Given the description of an element on the screen output the (x, y) to click on. 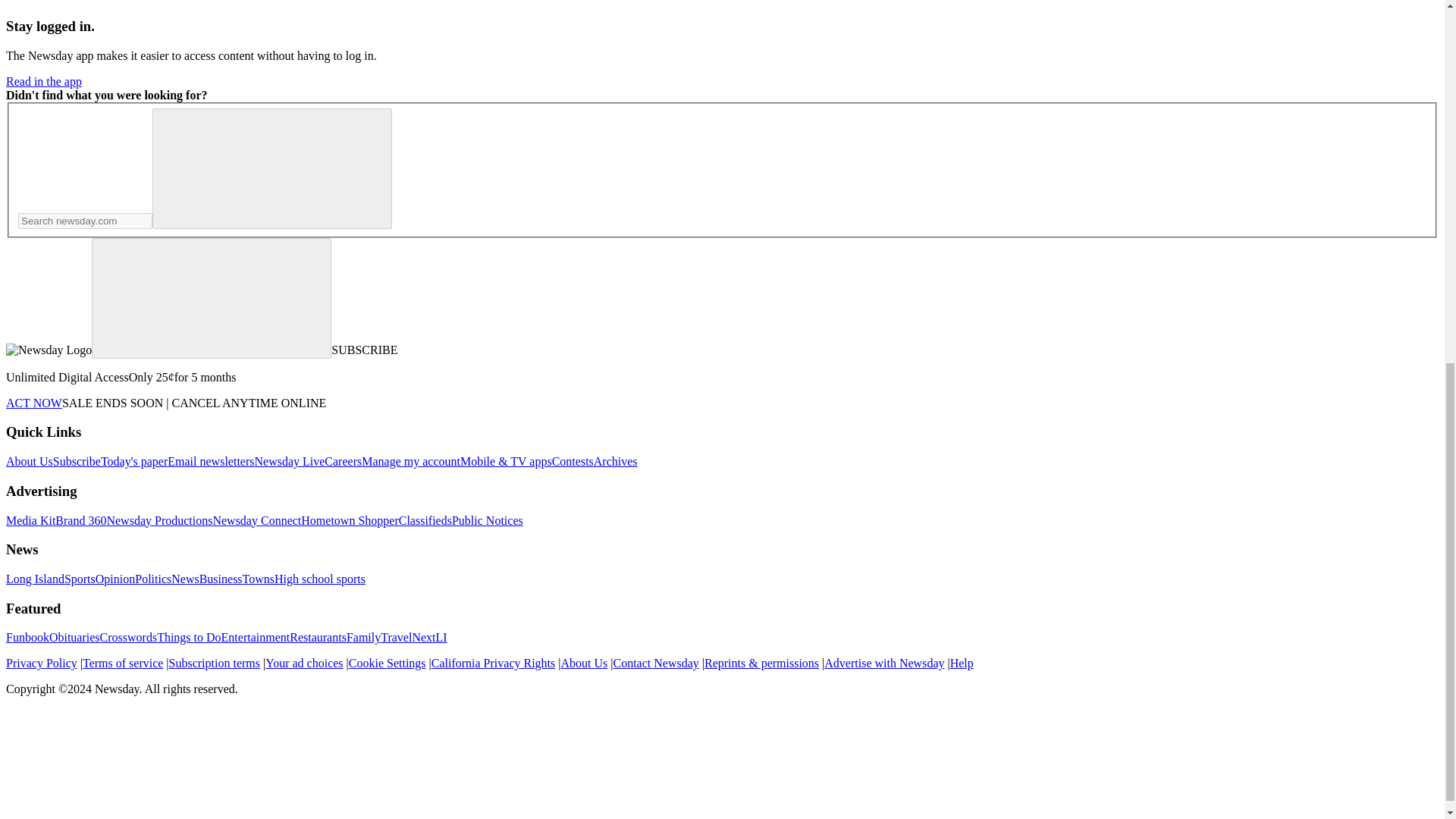
Read in the app (43, 81)
Search (271, 168)
